Given the description of an element on the screen output the (x, y) to click on. 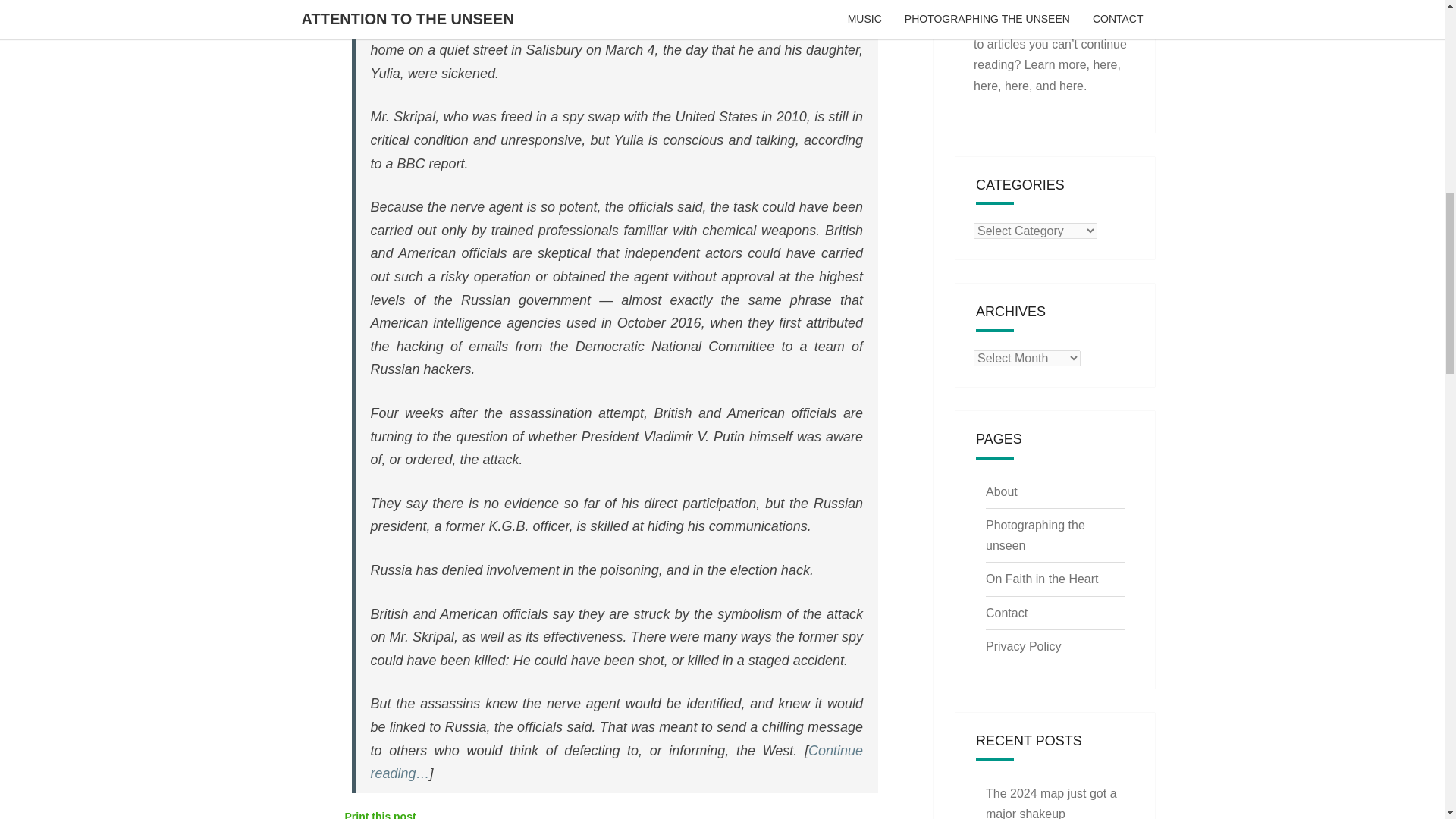
About (1001, 491)
Privacy Policy (1023, 645)
On Faith in the Heart (1042, 578)
Print this post (378, 813)
here (985, 84)
Contact (1006, 612)
Photographing the unseen (1034, 535)
here (1104, 64)
The 2024 map just got a major shakeup (1050, 803)
here (1071, 84)
here (1016, 84)
